Given the description of an element on the screen output the (x, y) to click on. 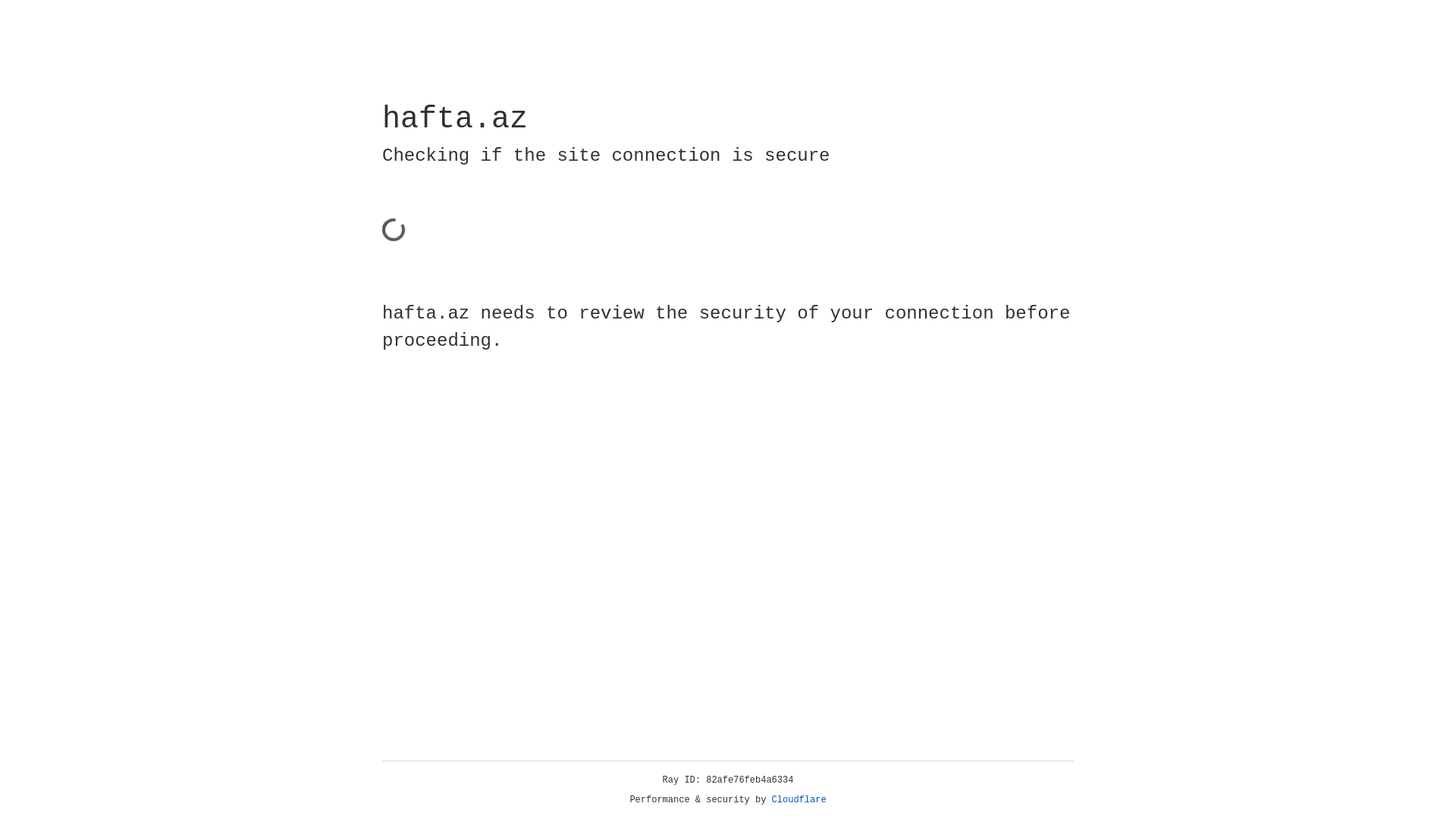
Cloudflare Element type: text (798, 799)
